Given the description of an element on the screen output the (x, y) to click on. 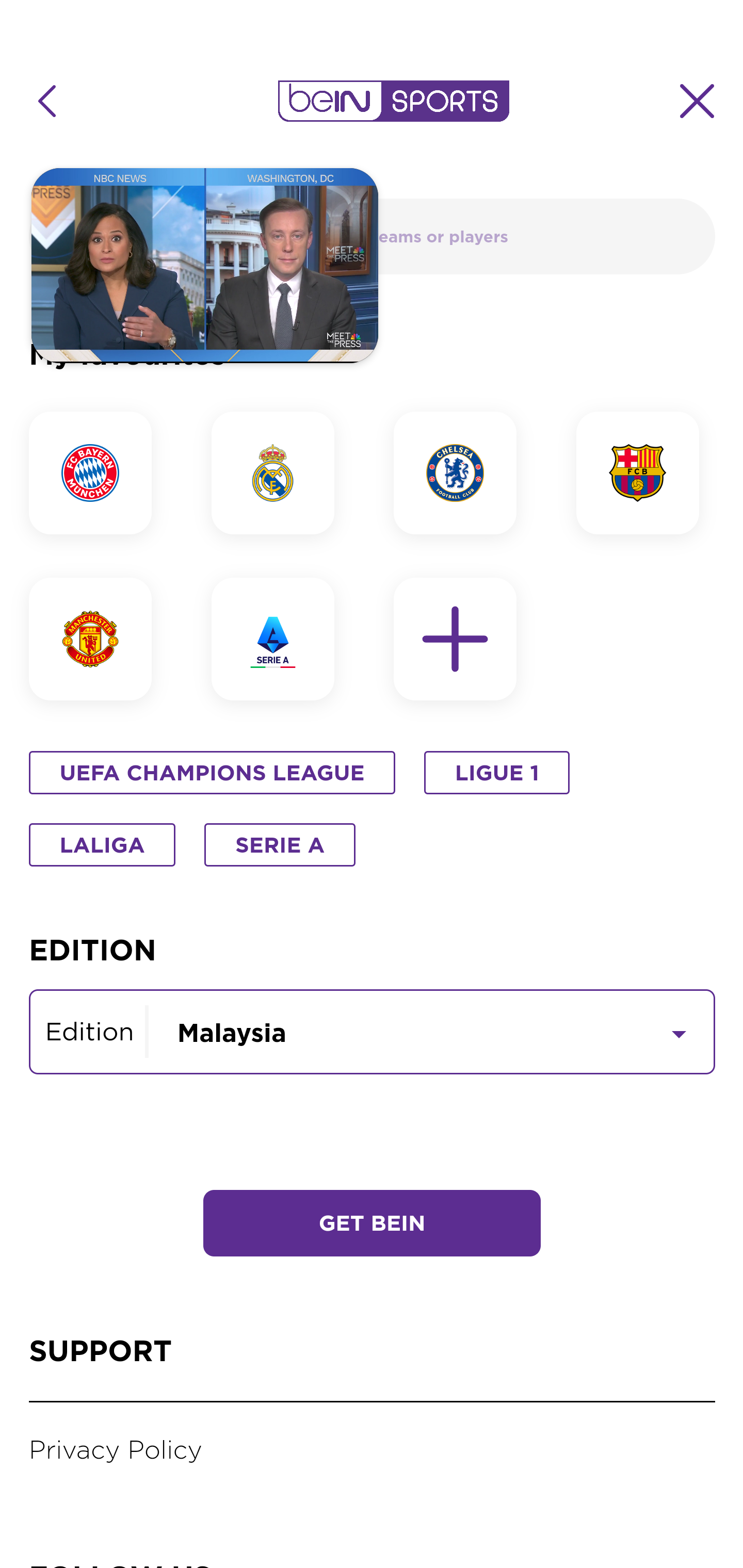
en-my?platform=mobile_android bein logo (392, 101)
icon back (46, 101)
Close Menu Icon (697, 101)
